Given the description of an element on the screen output the (x, y) to click on. 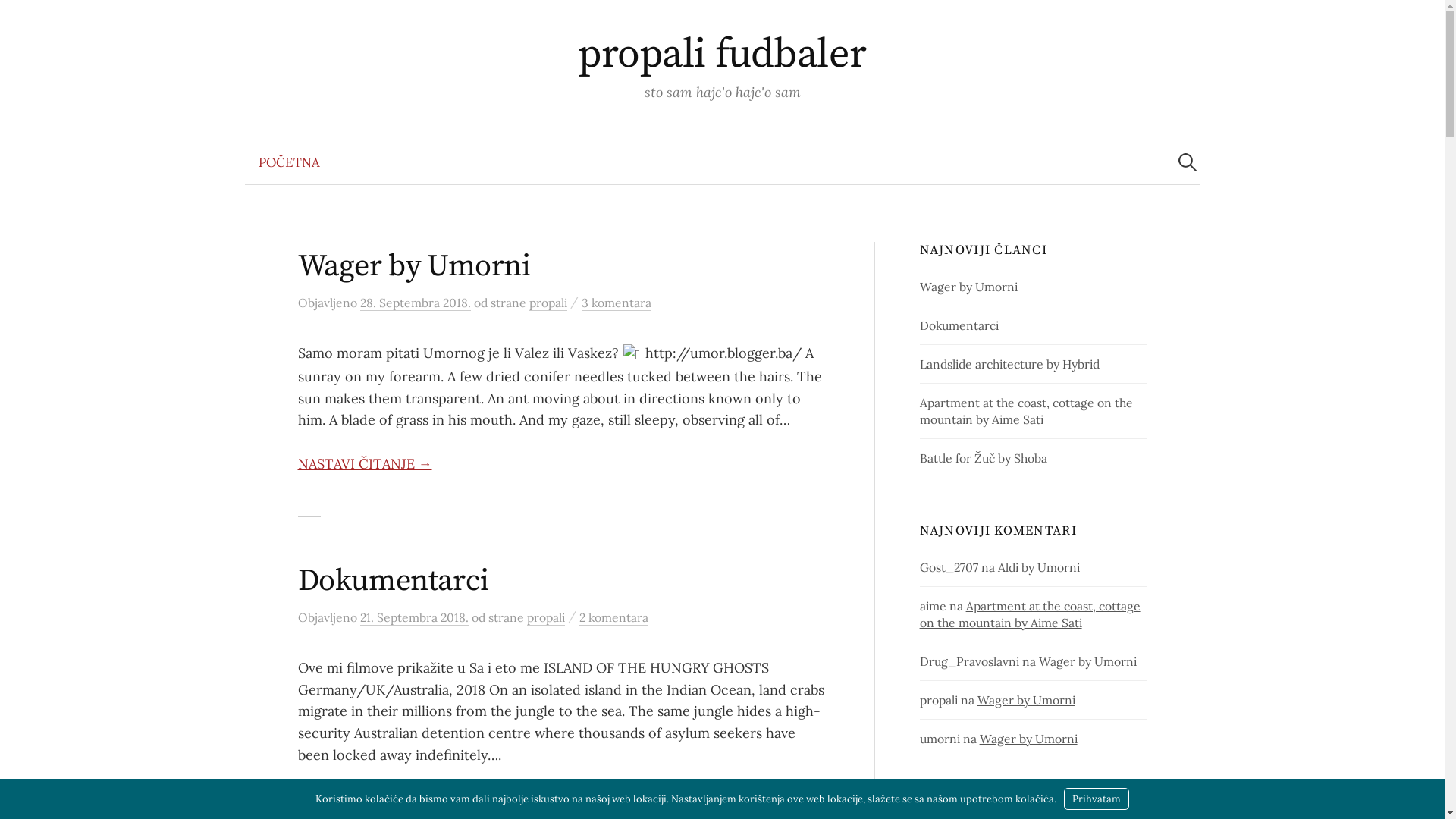
Dokumentarci Element type: text (958, 324)
Apartment at the coast, cottage on the mountain by Aime Sati Element type: text (1029, 614)
Wager by Umorni Element type: text (413, 266)
Wager by Umorni Element type: text (1087, 660)
Wager by Umorni Element type: text (968, 286)
Wager by Umorni Element type: text (1026, 699)
Dokumentarci Element type: text (392, 580)
3 komentara
za Wager by Umorni Element type: text (615, 302)
Aldi by Umorni Element type: text (1038, 566)
Landslide architecture by Hybrid Element type: text (1009, 363)
2 komentara
za Dokumentarci Element type: text (613, 617)
21. Septembra 2018. Element type: text (413, 617)
propali Element type: text (545, 617)
Prihvatam Element type: text (1096, 798)
propali Element type: text (548, 302)
Wager by Umorni Element type: text (1028, 738)
propali fudbaler Element type: text (721, 54)
Pretraga Element type: text (18, 18)
28. Septembra 2018. Element type: text (414, 302)
Apartment at the coast, cottage on the mountain by Aime Sati Element type: text (1025, 410)
